Given the description of an element on the screen output the (x, y) to click on. 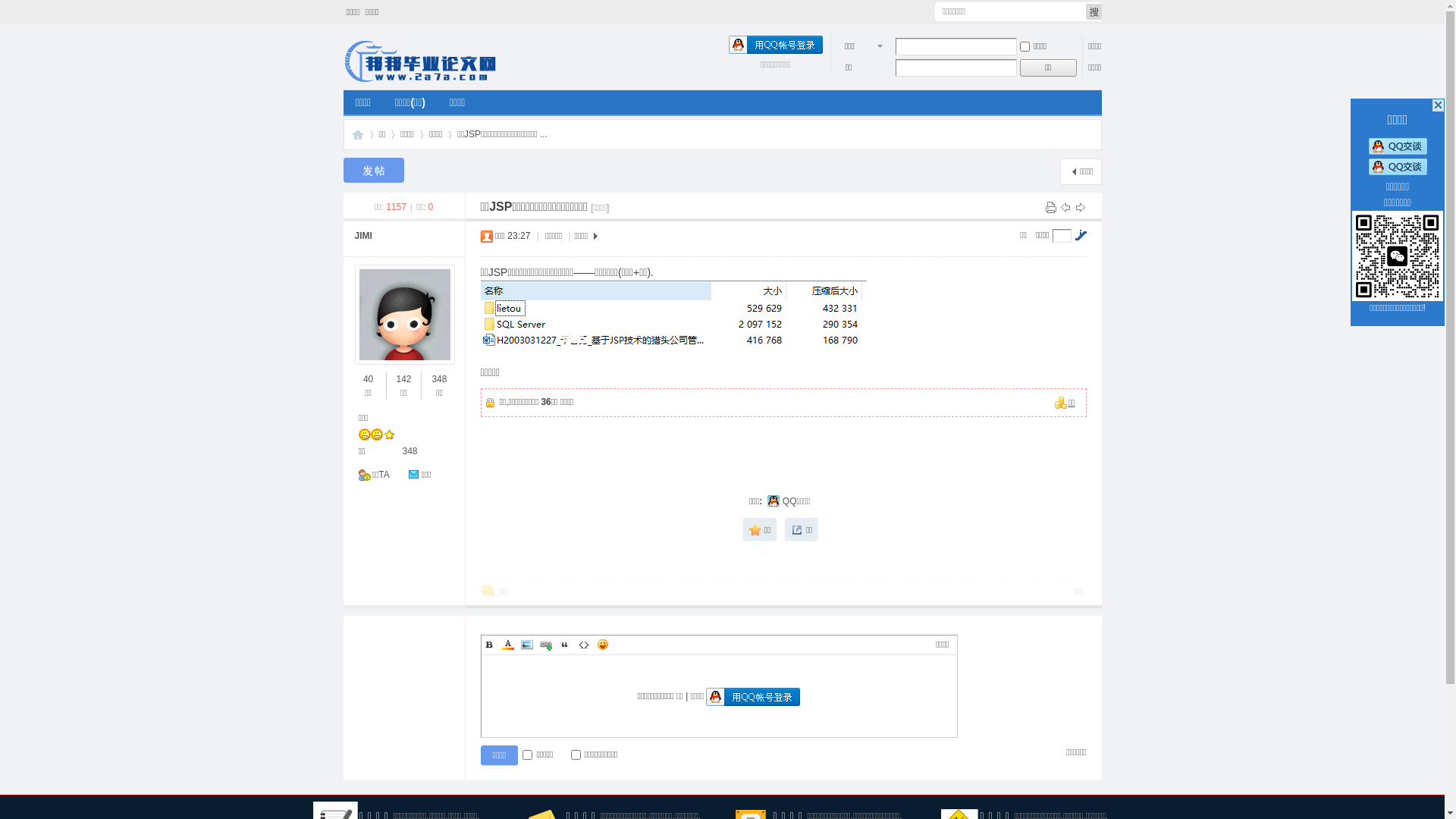
Code Element type: text (583, 644)
Color Element type: text (507, 644)
true Element type: text (1093, 11)
348 Element type: text (409, 450)
B Element type: text (487, 644)
142 Element type: text (403, 378)
  Element type: text (1437, 105)
40 Element type: text (368, 378)
Link Element type: text (545, 644)
348 Element type: text (438, 378)
Smilies Element type: text (601, 644)
JIMI Element type: text (363, 235)
Image Element type: text (525, 644)
Quote Element type: text (563, 644)
